Given the description of an element on the screen output the (x, y) to click on. 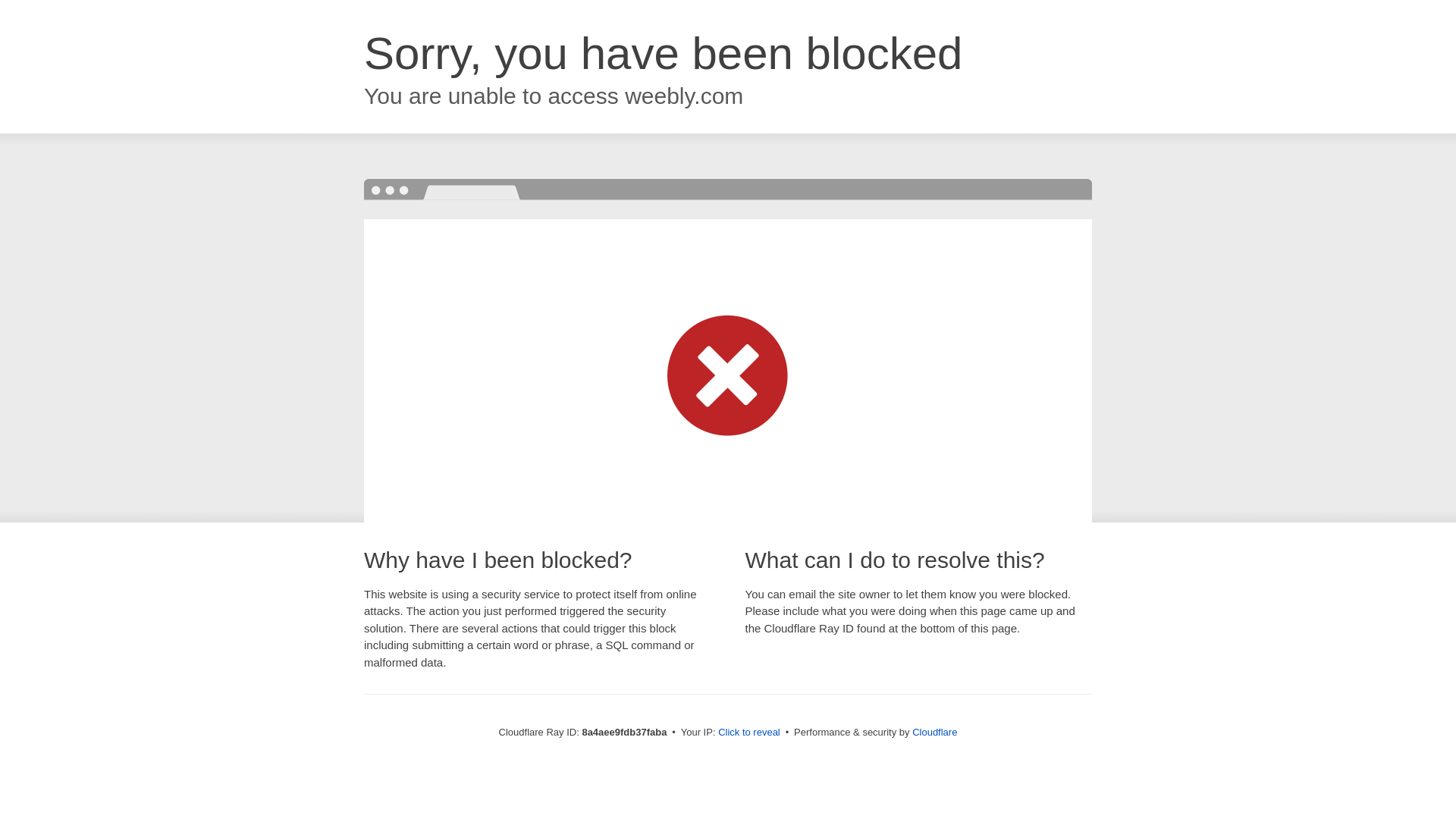
Click to reveal (748, 732)
Cloudflare (934, 731)
